Given the description of an element on the screen output the (x, y) to click on. 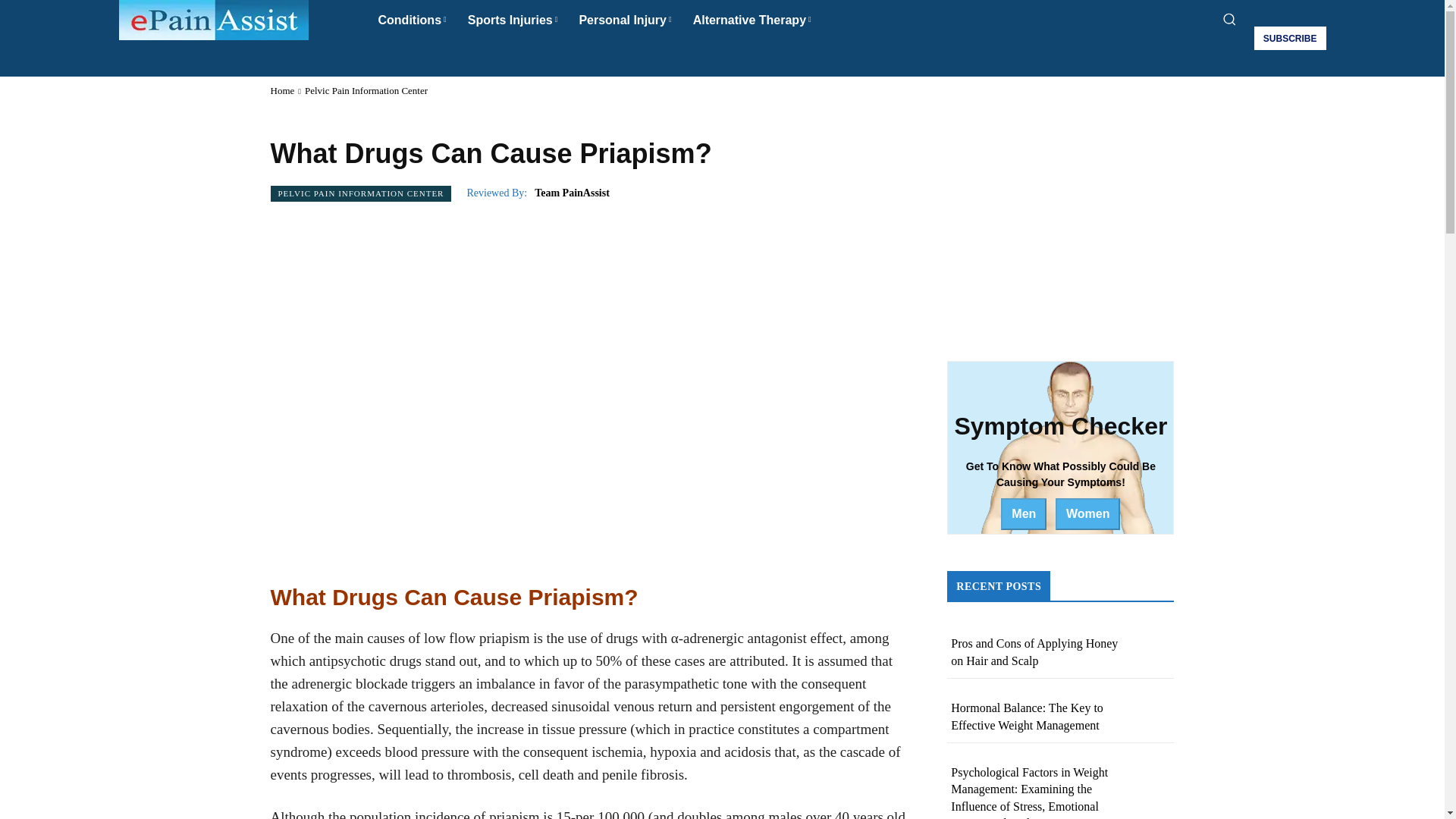
Search (722, 55)
View all posts in Pelvic Pain Information Center (366, 90)
Pros and Cons of Applying Honey on Hair and Scalp (1034, 651)
